Given the description of an element on the screen output the (x, y) to click on. 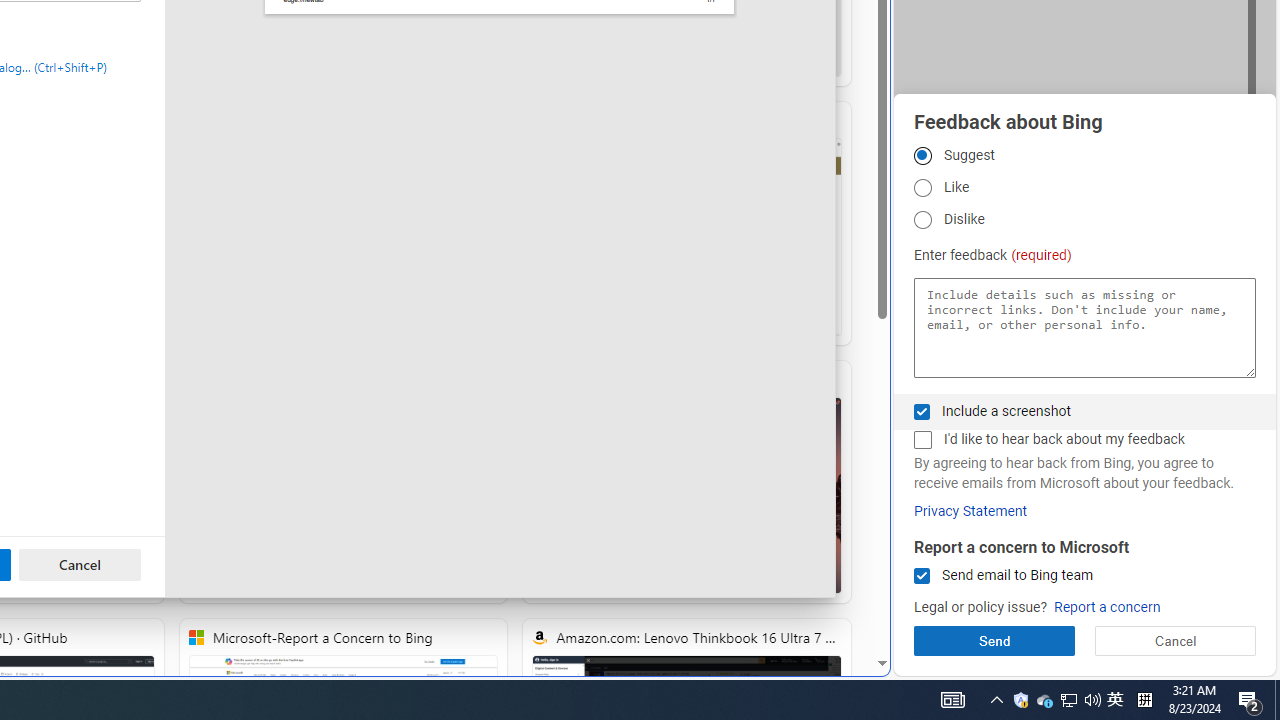
Cancel (79, 564)
